Given the description of an element on the screen output the (x, y) to click on. 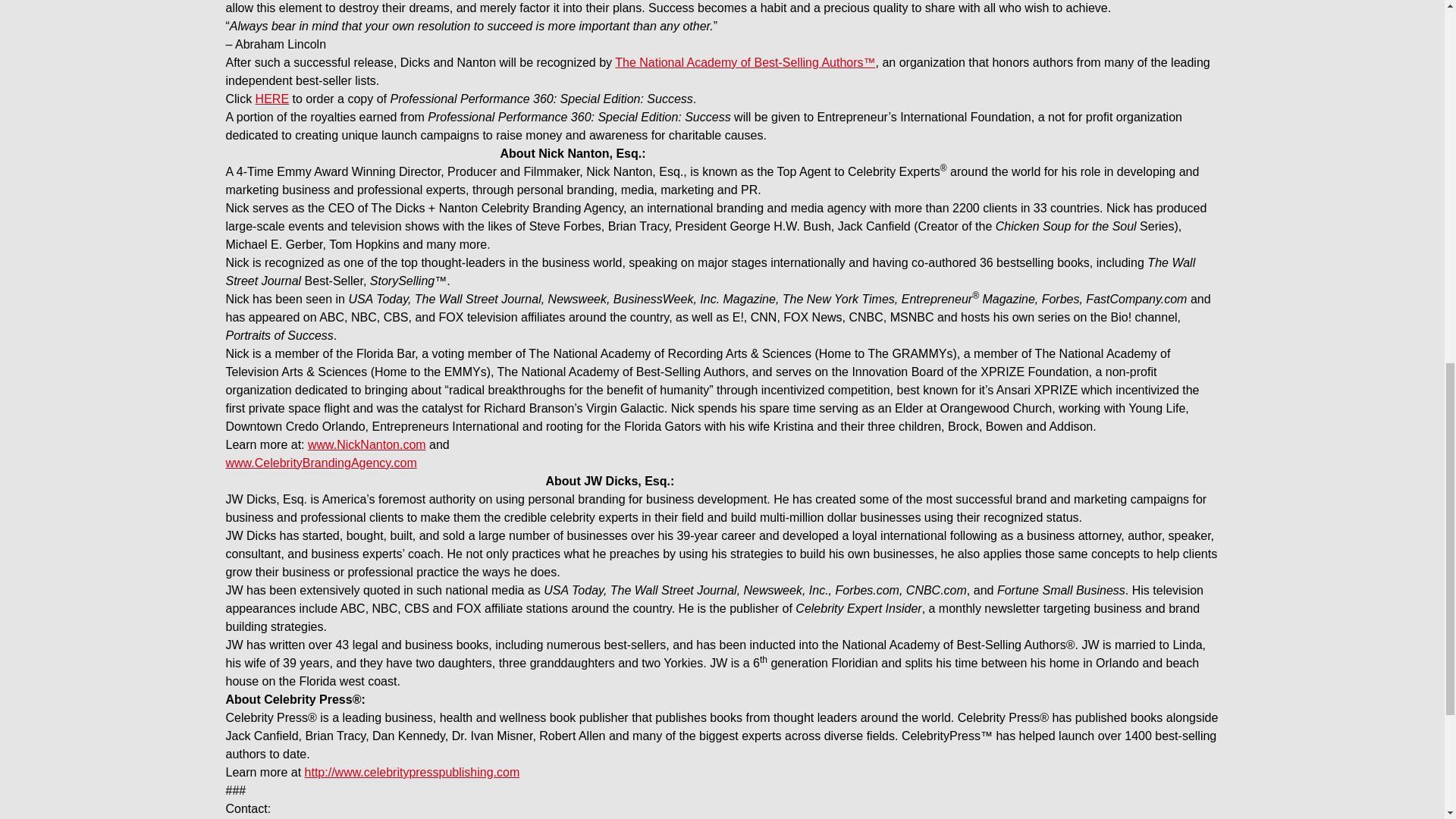
www.NickNanton.com (366, 444)
www.CelebrityBrandingAgency.com (320, 462)
HERE (272, 98)
